Given the description of an element on the screen output the (x, y) to click on. 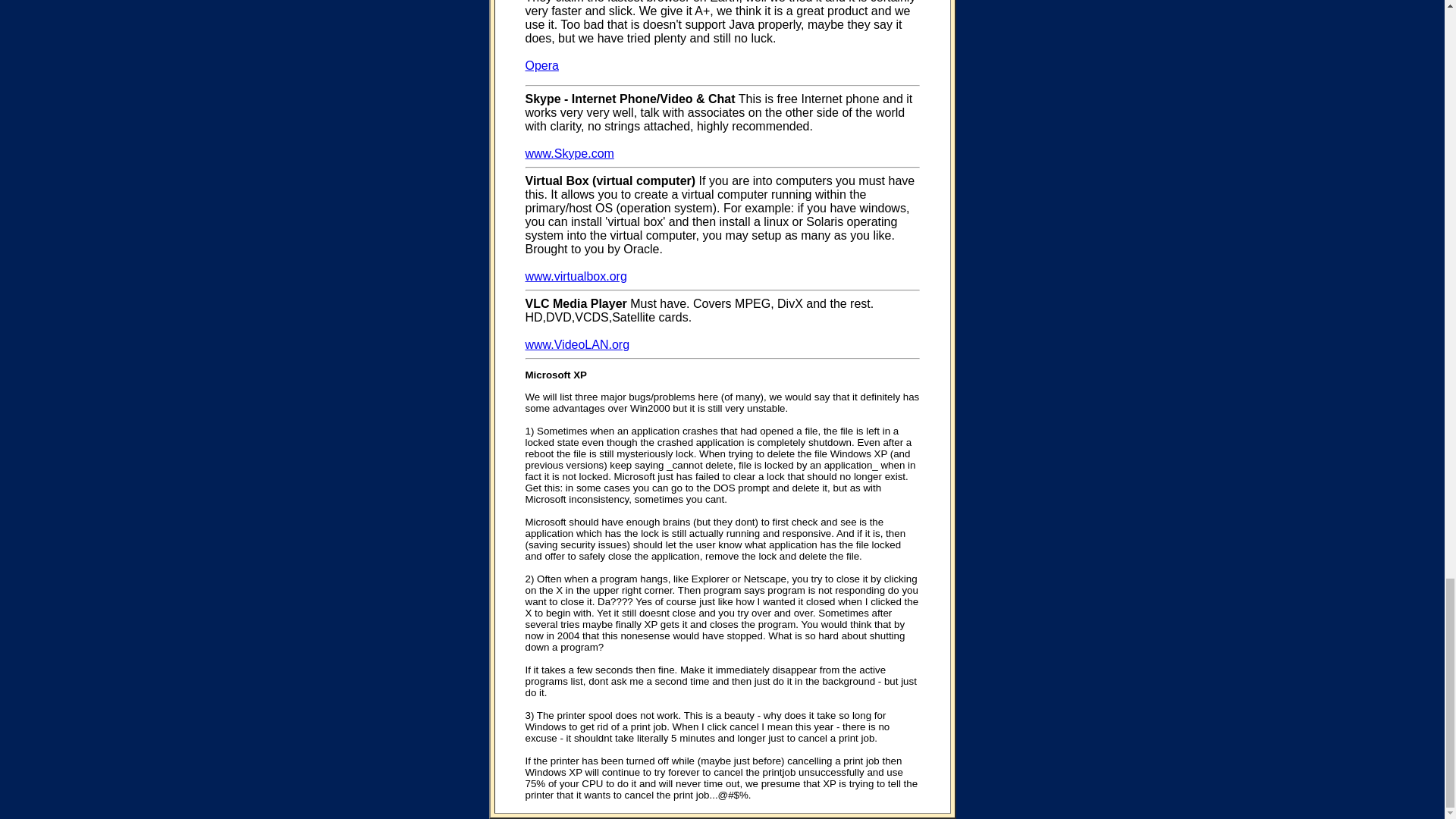
www.virtualbox.org (575, 276)
Opera (540, 65)
VLC Media Player (575, 303)
www.Skype.com (568, 153)
www.VideoLAN.org (576, 344)
